Given the description of an element on the screen output the (x, y) to click on. 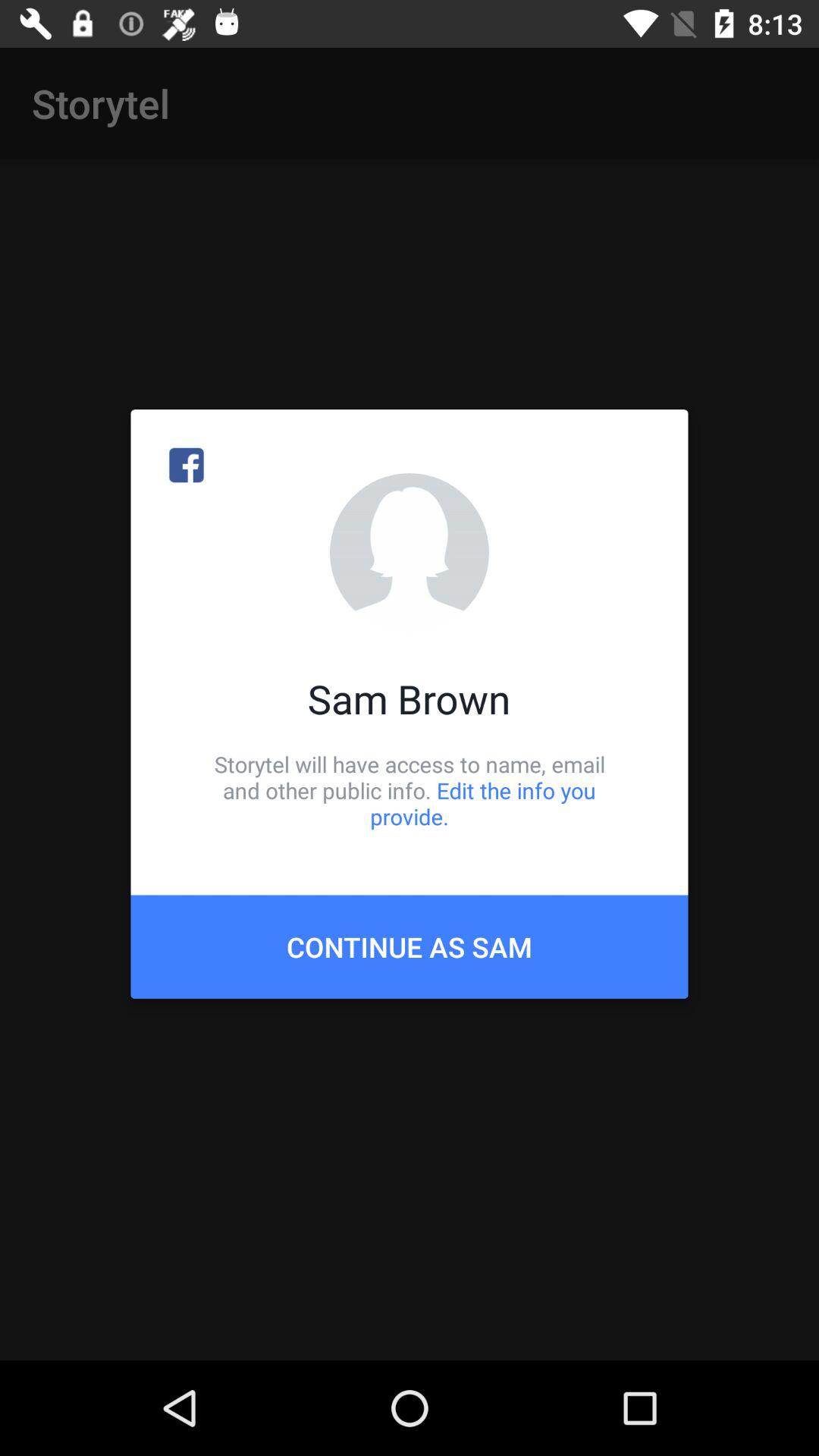
turn off the icon below storytel will have item (409, 946)
